Given the description of an element on the screen output the (x, y) to click on. 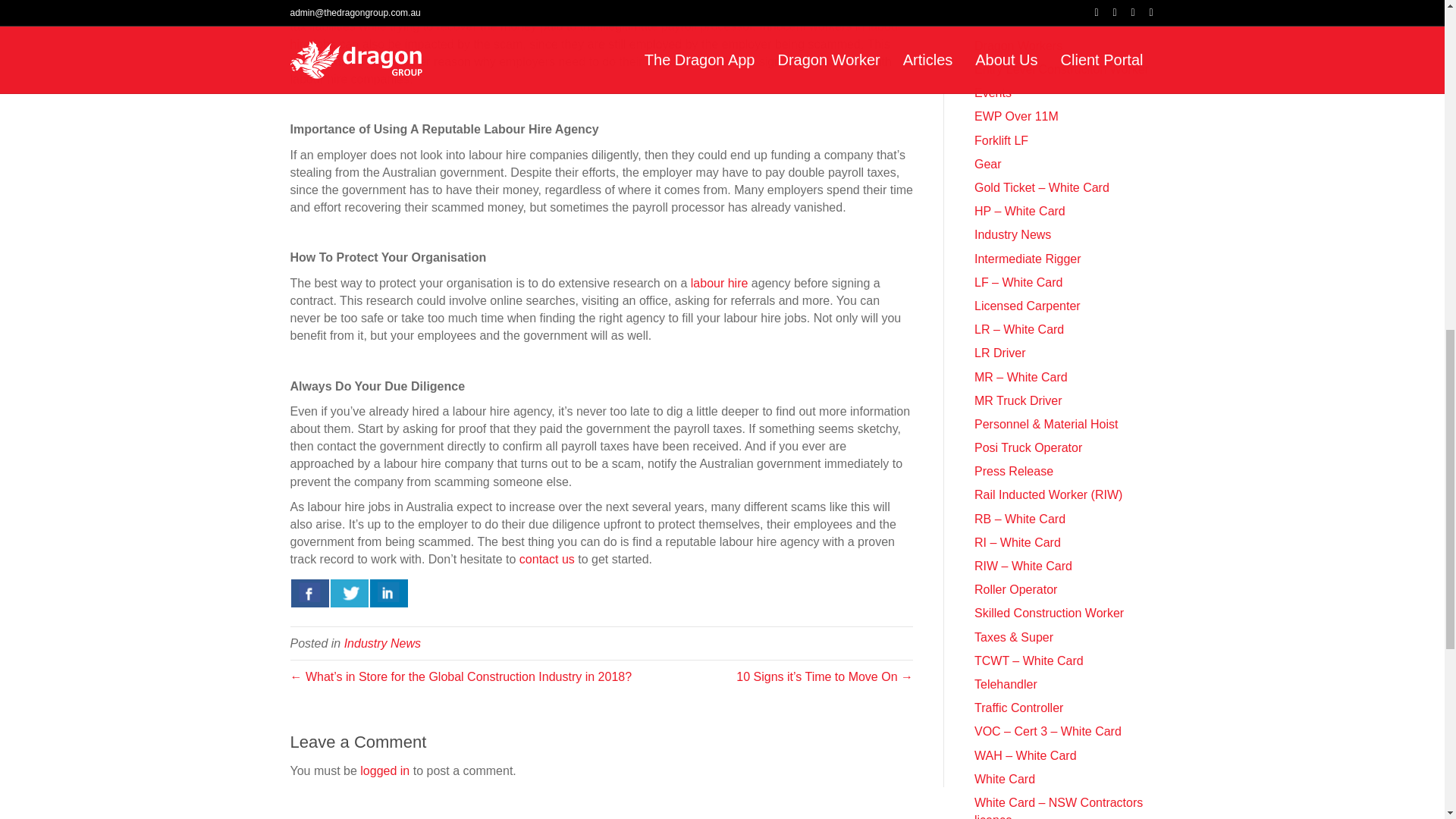
Share On Twitter (349, 592)
labour hire (719, 282)
labour hire jobs (595, 34)
Share On Linkedin (388, 592)
Industry News (381, 643)
Share On Facebook (310, 592)
logged in (384, 770)
contact us (547, 558)
